Given the description of an element on the screen output the (x, y) to click on. 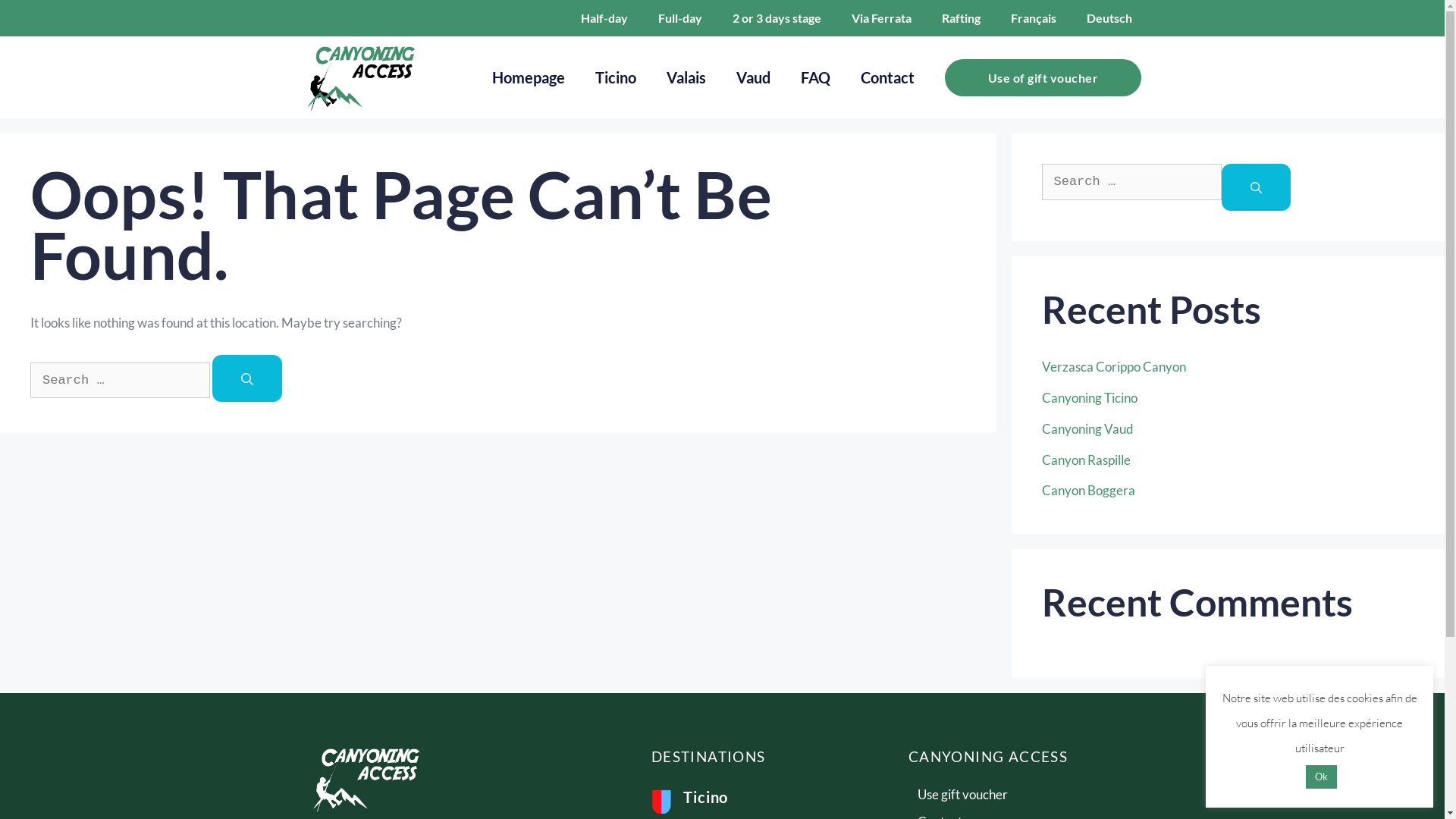
Deutsch Element type: text (1108, 17)
Canyon Raspille Element type: text (1085, 459)
Contact Element type: text (887, 76)
Via Ferrata Element type: text (880, 17)
Canyoning Ticino Element type: text (1089, 397)
Search for: Element type: hover (1131, 181)
Valais Element type: text (686, 76)
Search for: Element type: hover (120, 380)
Half-day Element type: text (604, 17)
Use gift voucher Element type: text (1028, 794)
Ticino Element type: text (705, 796)
Use of gift voucher Element type: text (1042, 77)
Canyoning Vaud Element type: text (1087, 428)
Full-day Element type: text (680, 17)
2 or 3 days stage Element type: text (776, 17)
Homepage Element type: text (528, 76)
Vaud Element type: text (753, 76)
Ok Element type: text (1320, 776)
FAQ Element type: text (815, 76)
Ticino Element type: text (615, 76)
Canyon Boggera Element type: text (1088, 490)
Verzasca Corippo Canyon Element type: text (1113, 366)
Rafting Element type: text (960, 17)
